Given the description of an element on the screen output the (x, y) to click on. 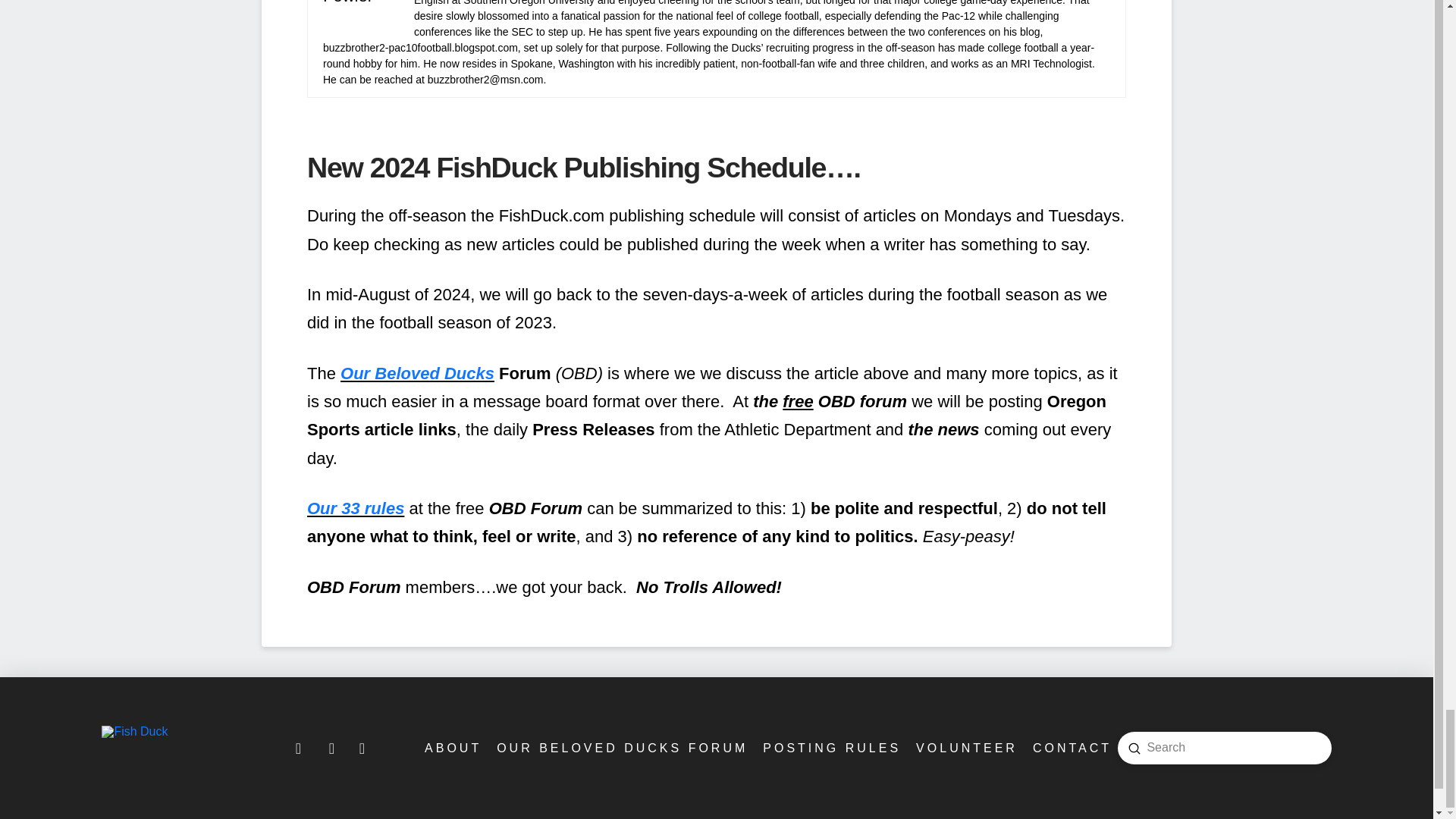
Our 33 rules (355, 507)
Submit (1134, 748)
CONTACT (1070, 748)
Volunteer (965, 748)
OUR BELOVED DUCKS FORUM (620, 748)
Commenting Rules (830, 748)
Our Beloved Ducks (417, 373)
ABOUT (450, 748)
POSTING RULES (830, 748)
About (450, 748)
